Given the description of an element on the screen output the (x, y) to click on. 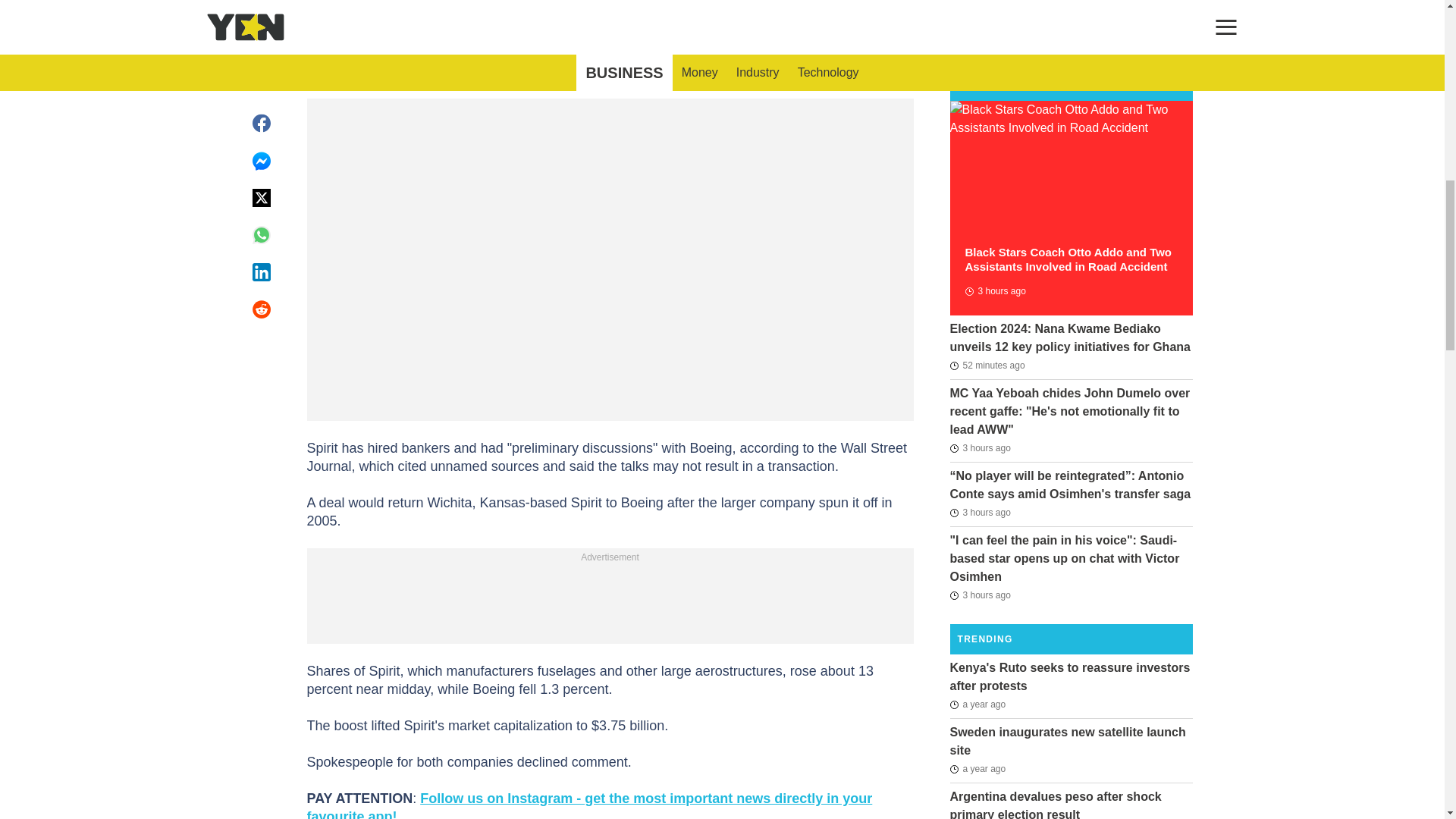
2024-09-01T13:28:40Z (987, 365)
FB Broadcast Channel (594, 12)
2023-01-13T11:23:06Z (977, 769)
2024-09-01T11:02:26Z (979, 447)
2024-09-01T10:44:11Z (979, 595)
2023-03-22T15:19:05Z (977, 704)
2024-09-01T10:27:49Z (994, 290)
2024-09-01T10:48:24Z (979, 512)
